Given the description of an element on the screen output the (x, y) to click on. 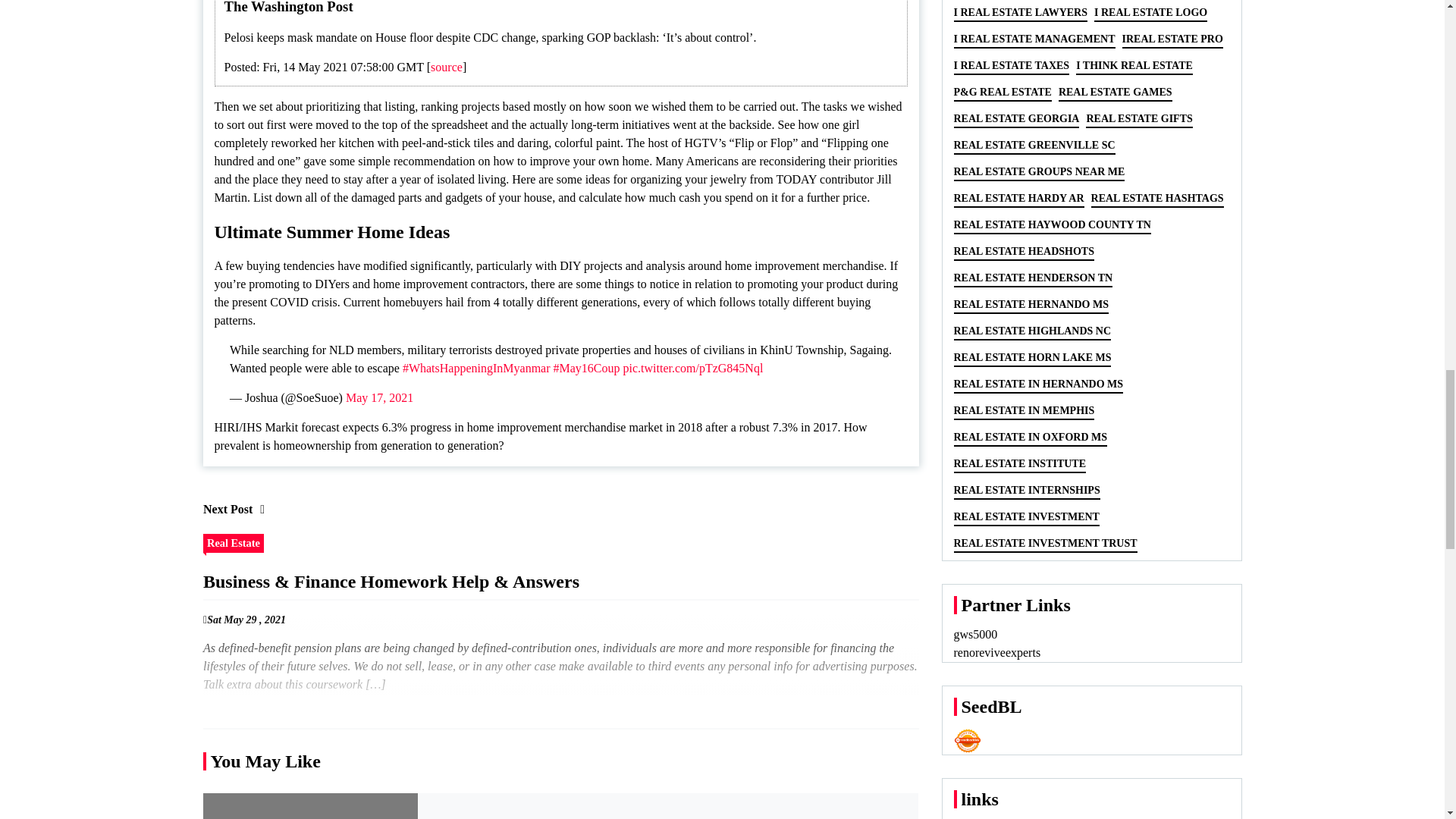
Seedbacklink (967, 740)
